Given the description of an element on the screen output the (x, y) to click on. 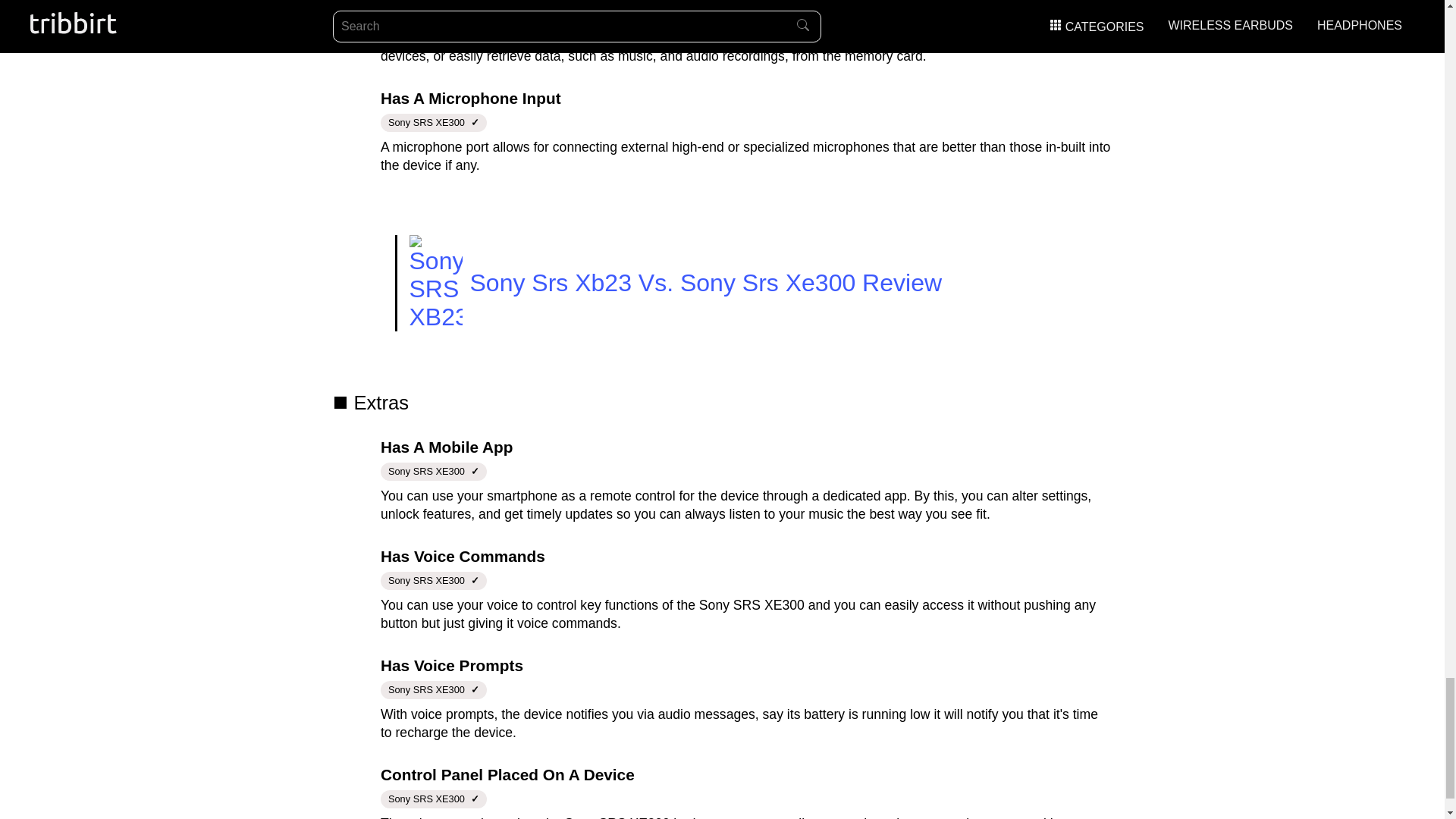
Sony Srs Xb23 Vs. Sony Srs Xe300 Review (729, 283)
